Given the description of an element on the screen output the (x, y) to click on. 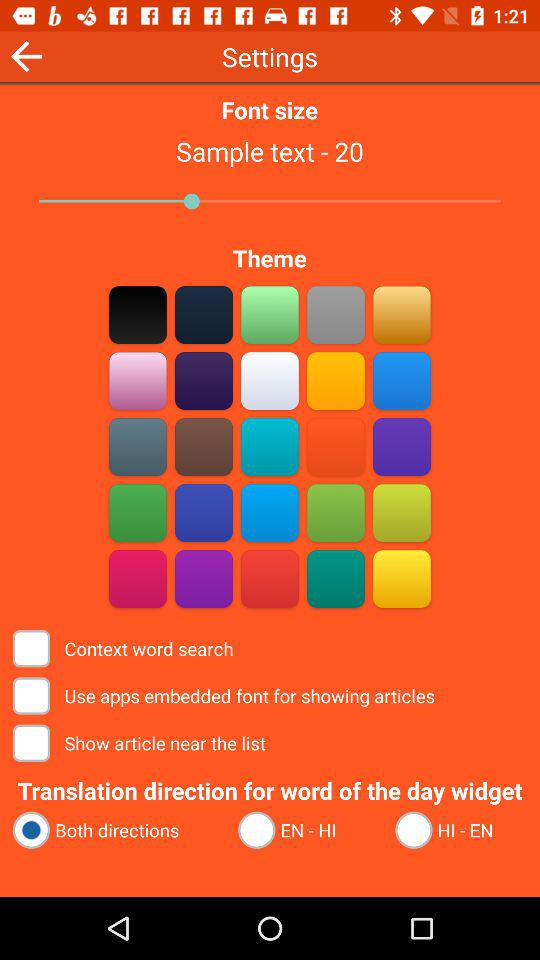
go do couler (137, 380)
